Given the description of an element on the screen output the (x, y) to click on. 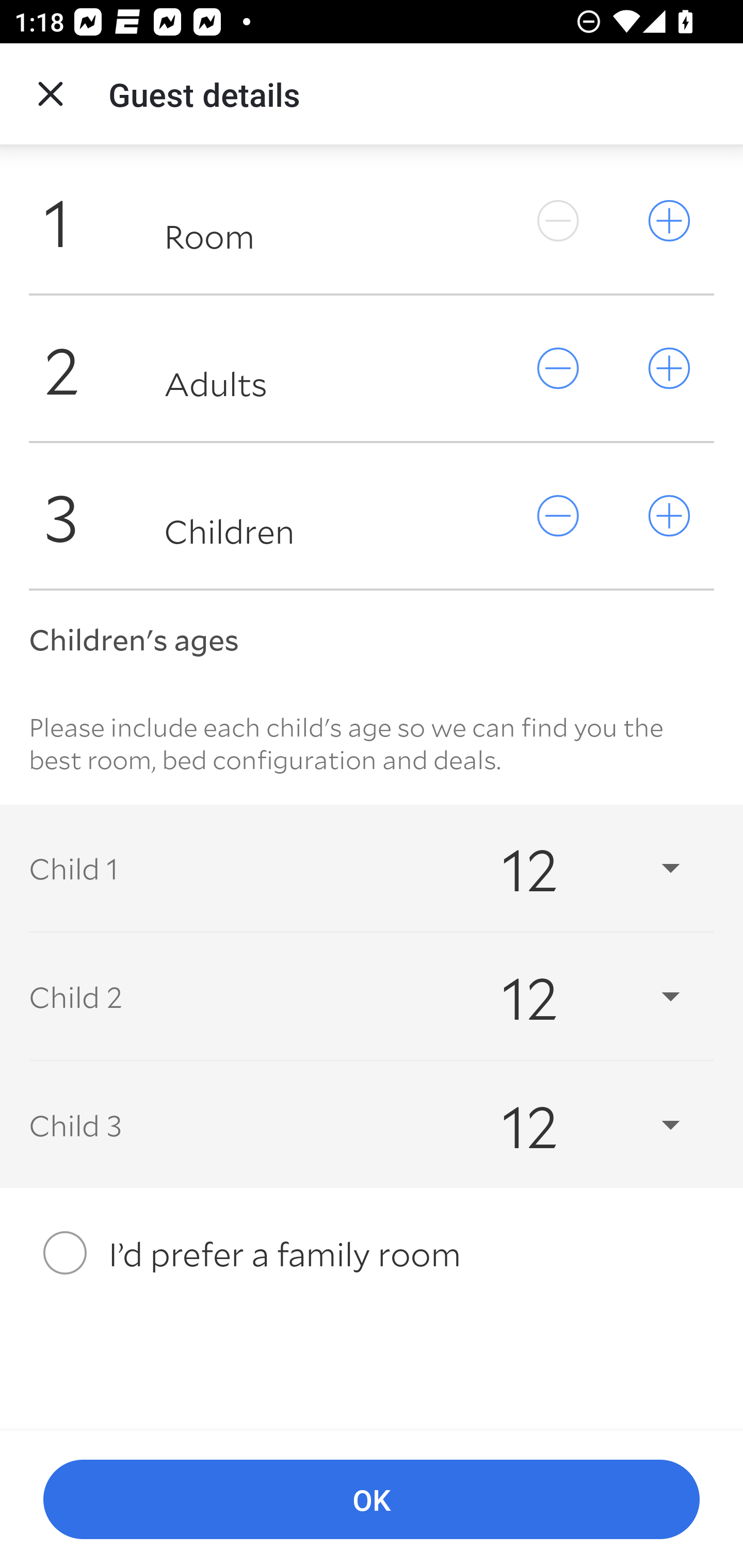
12 (573, 867)
12 (573, 996)
12 (573, 1125)
I’d prefer a family room (371, 1252)
OK (371, 1499)
